Given the description of an element on the screen output the (x, y) to click on. 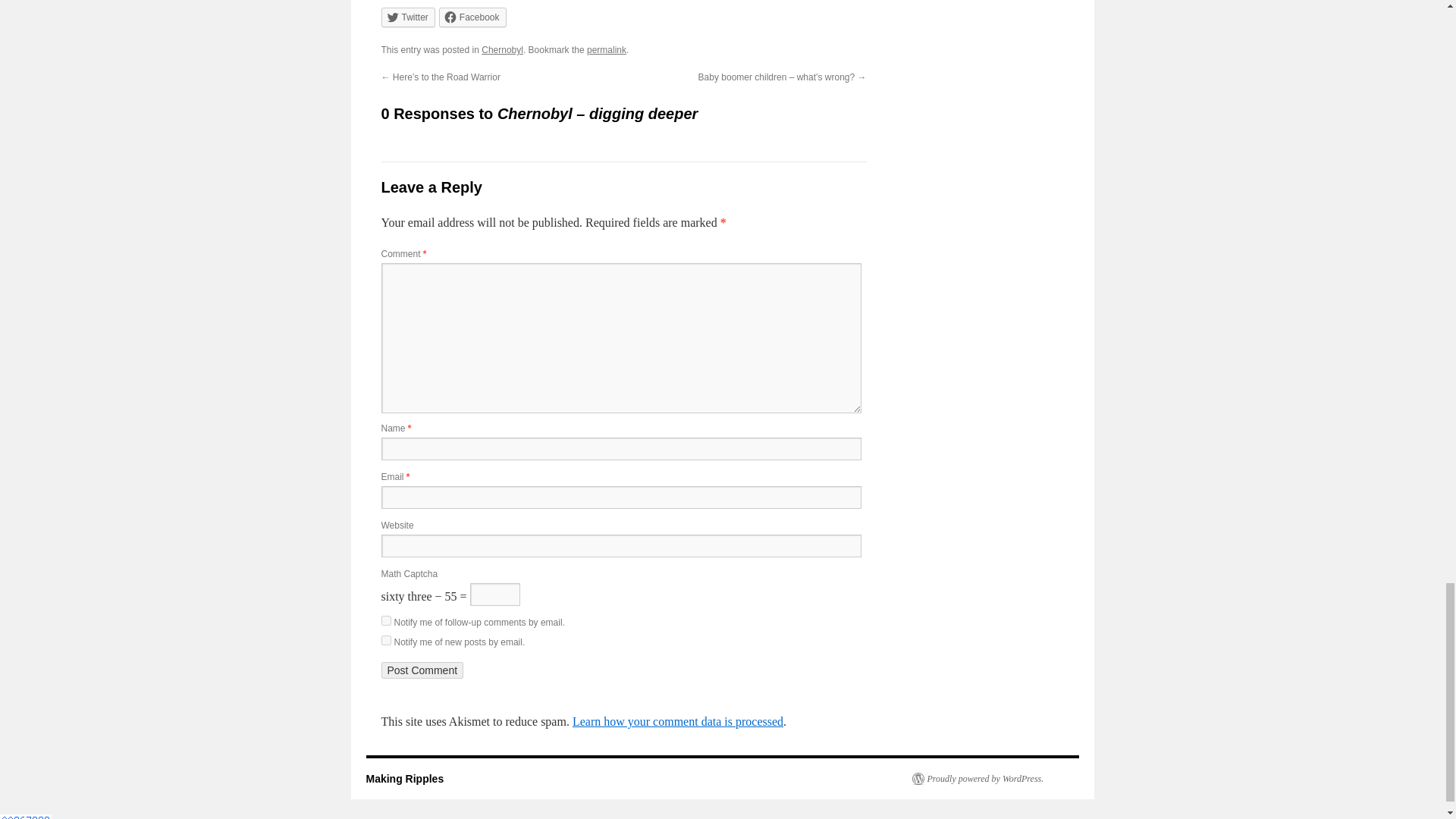
subscribe (385, 620)
Click to share on Facebook (472, 17)
Click to share on Twitter (406, 17)
Semantic Personal Publishing Platform (977, 778)
subscribe (385, 640)
Making Ripples (404, 778)
Post Comment (421, 669)
